Given the description of an element on the screen output the (x, y) to click on. 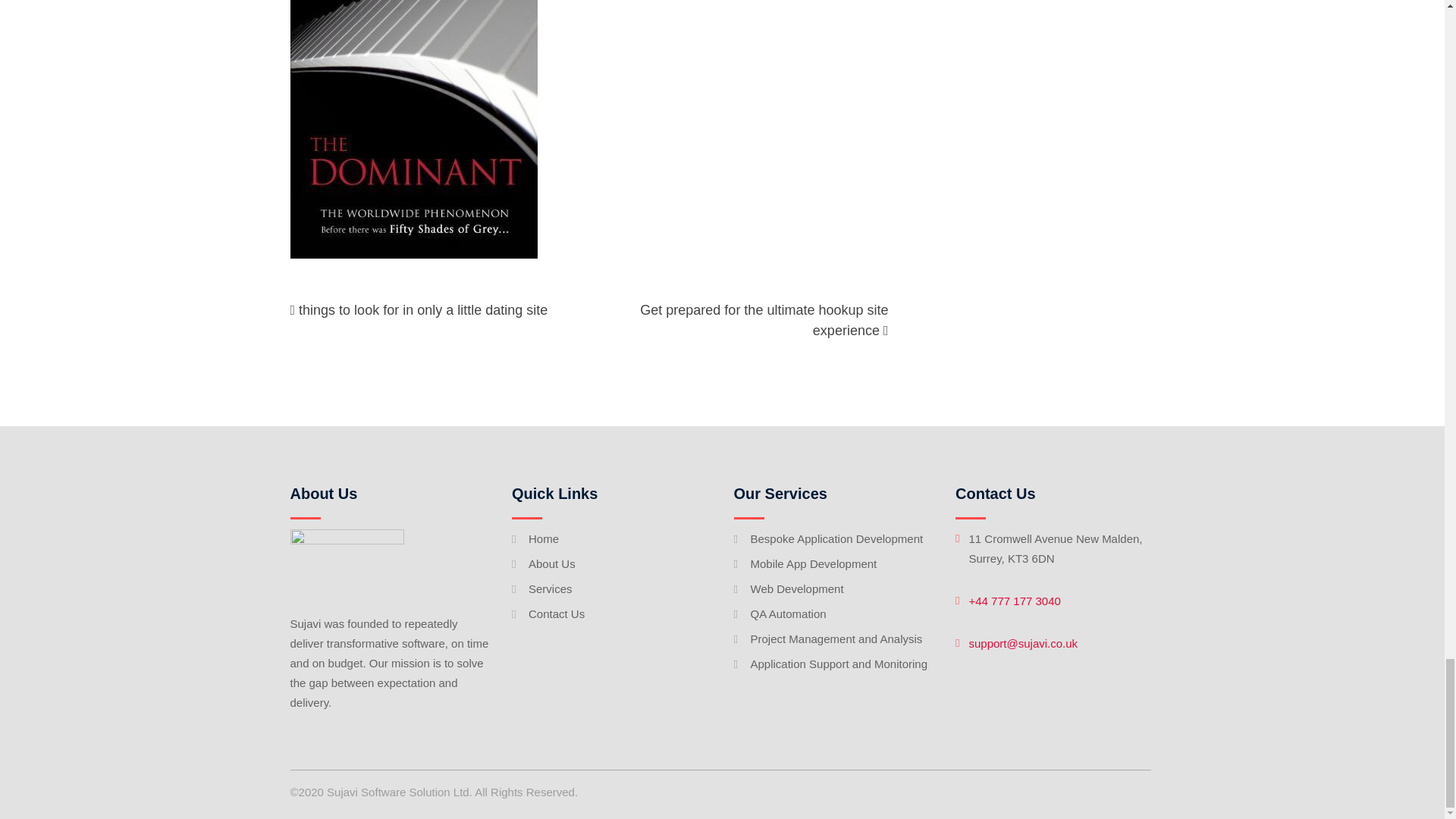
Bespoke Application Development (837, 538)
Services (550, 588)
Home (543, 538)
About Us (551, 563)
Web Development (797, 588)
things to look for in only a little dating site (422, 309)
Project Management and Analysis (837, 638)
QA Automation (789, 613)
Contact Us (556, 613)
Get prepared for the ultimate hookup site experience (764, 320)
Mobile App Development (814, 563)
Application Support and Monitoring (839, 663)
